Given the description of an element on the screen output the (x, y) to click on. 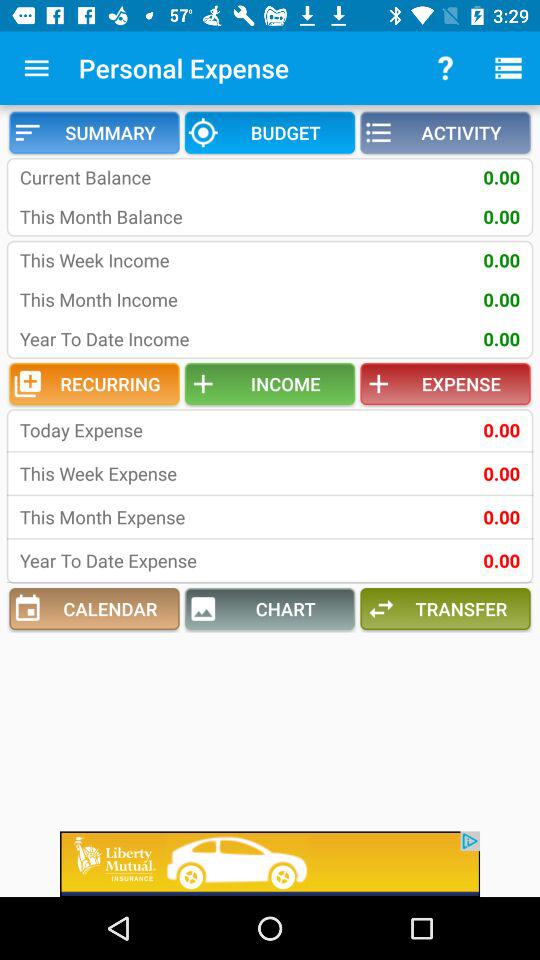
click the icon next to budget (445, 132)
